Given the description of an element on the screen output the (x, y) to click on. 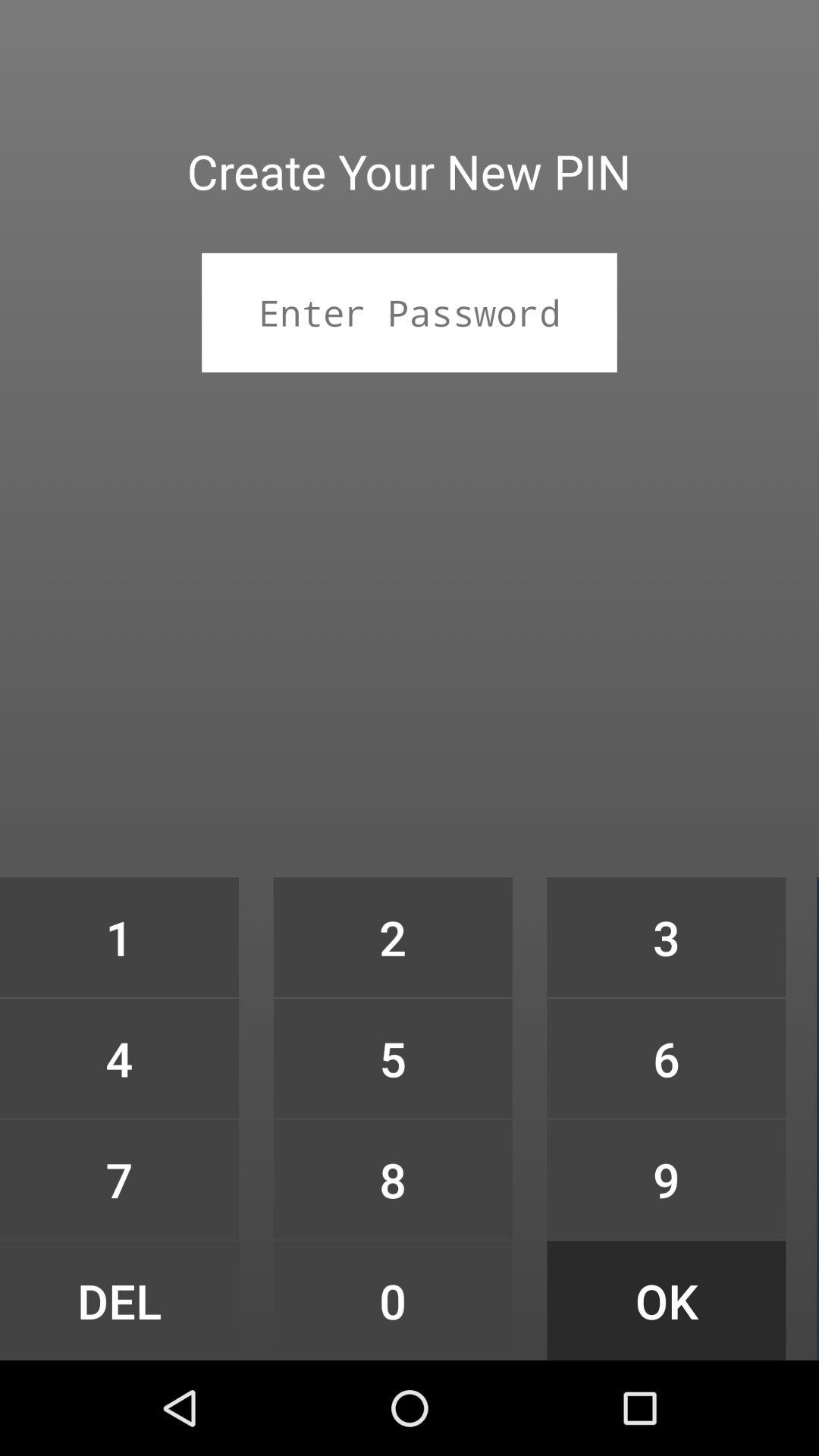
tap the icon above 8 item (392, 1058)
